Given the description of an element on the screen output the (x, y) to click on. 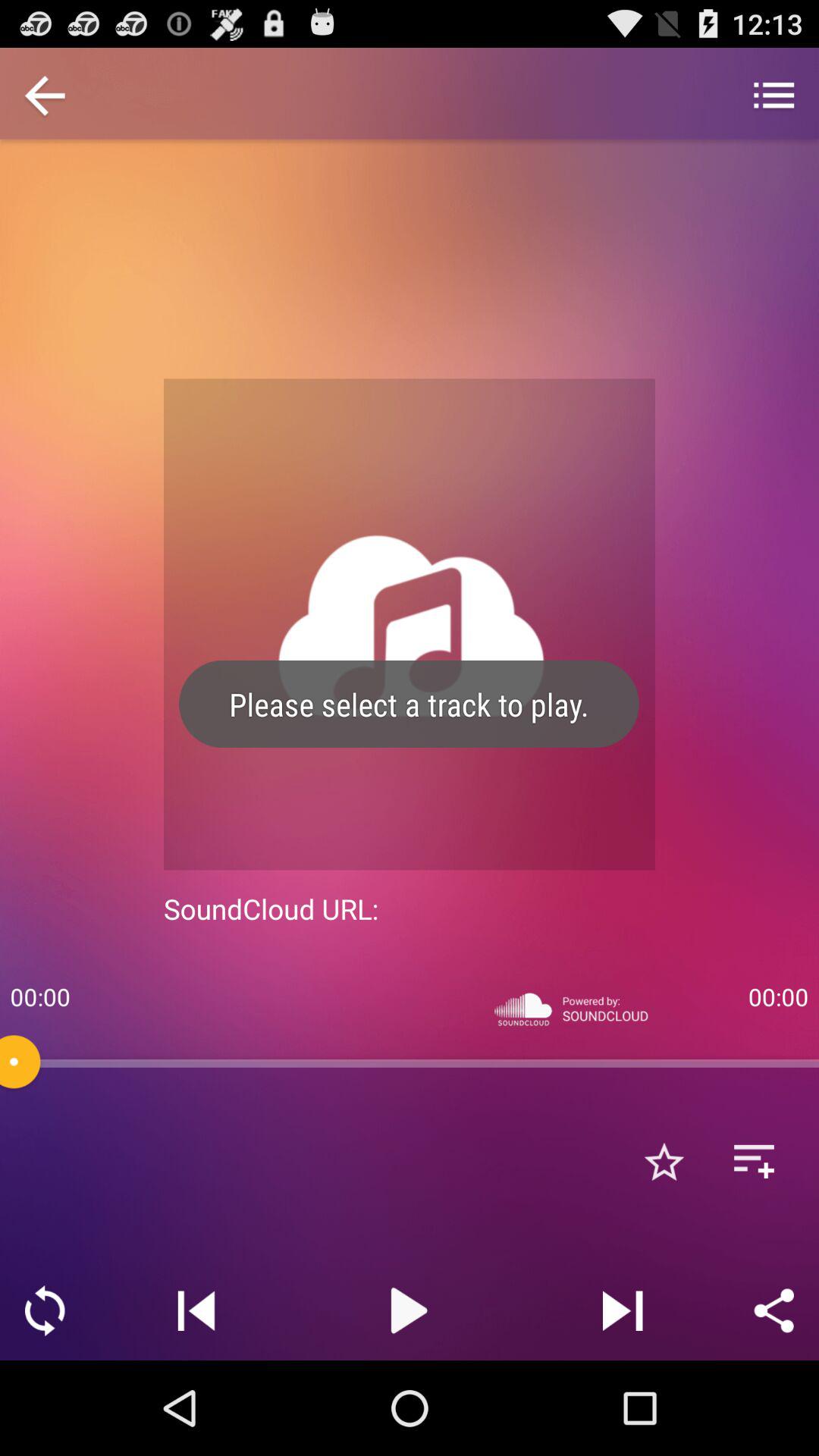
launch item above 00:00 (774, 97)
